Given the description of an element on the screen output the (x, y) to click on. 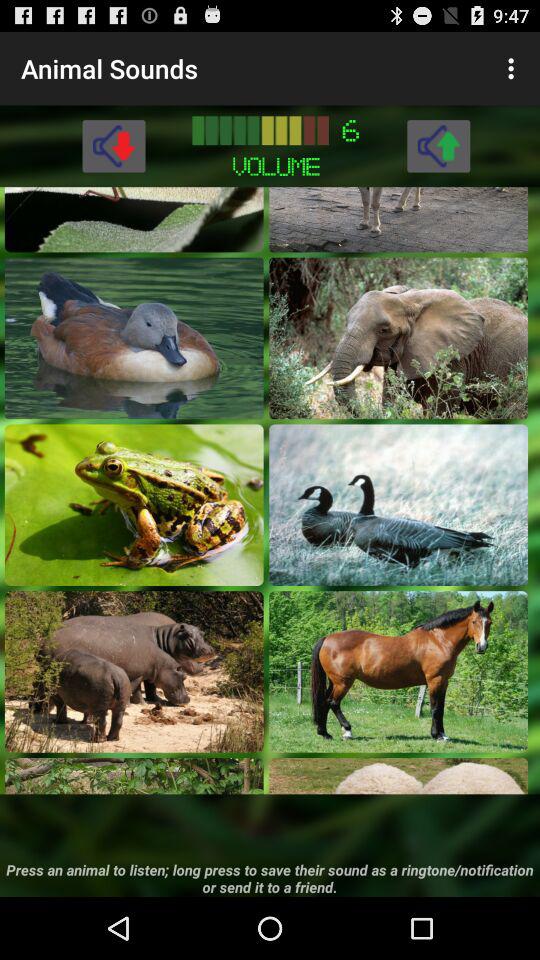
open picture (133, 337)
